Given the description of an element on the screen output the (x, y) to click on. 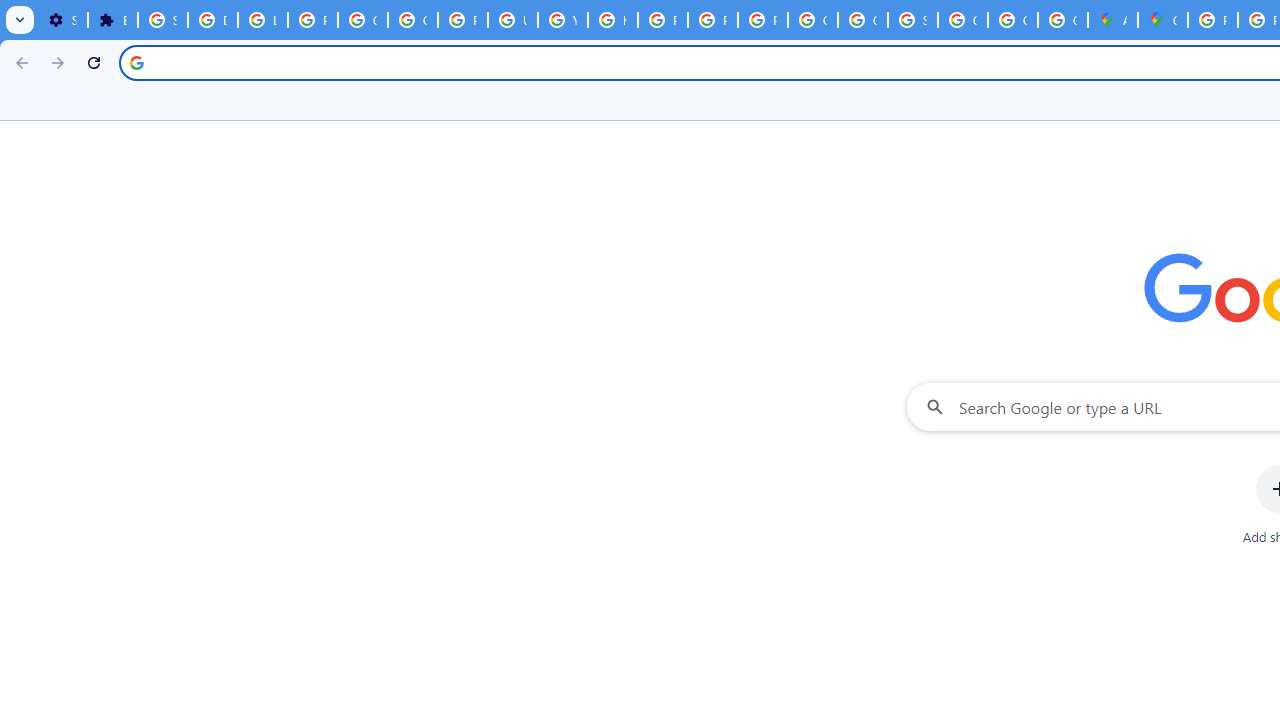
Sign in - Google Accounts (913, 20)
YouTube (562, 20)
Policy Accountability and Transparency - Transparency Center (1212, 20)
Create your Google Account (1062, 20)
Google Account Help (362, 20)
